Given the description of an element on the screen output the (x, y) to click on. 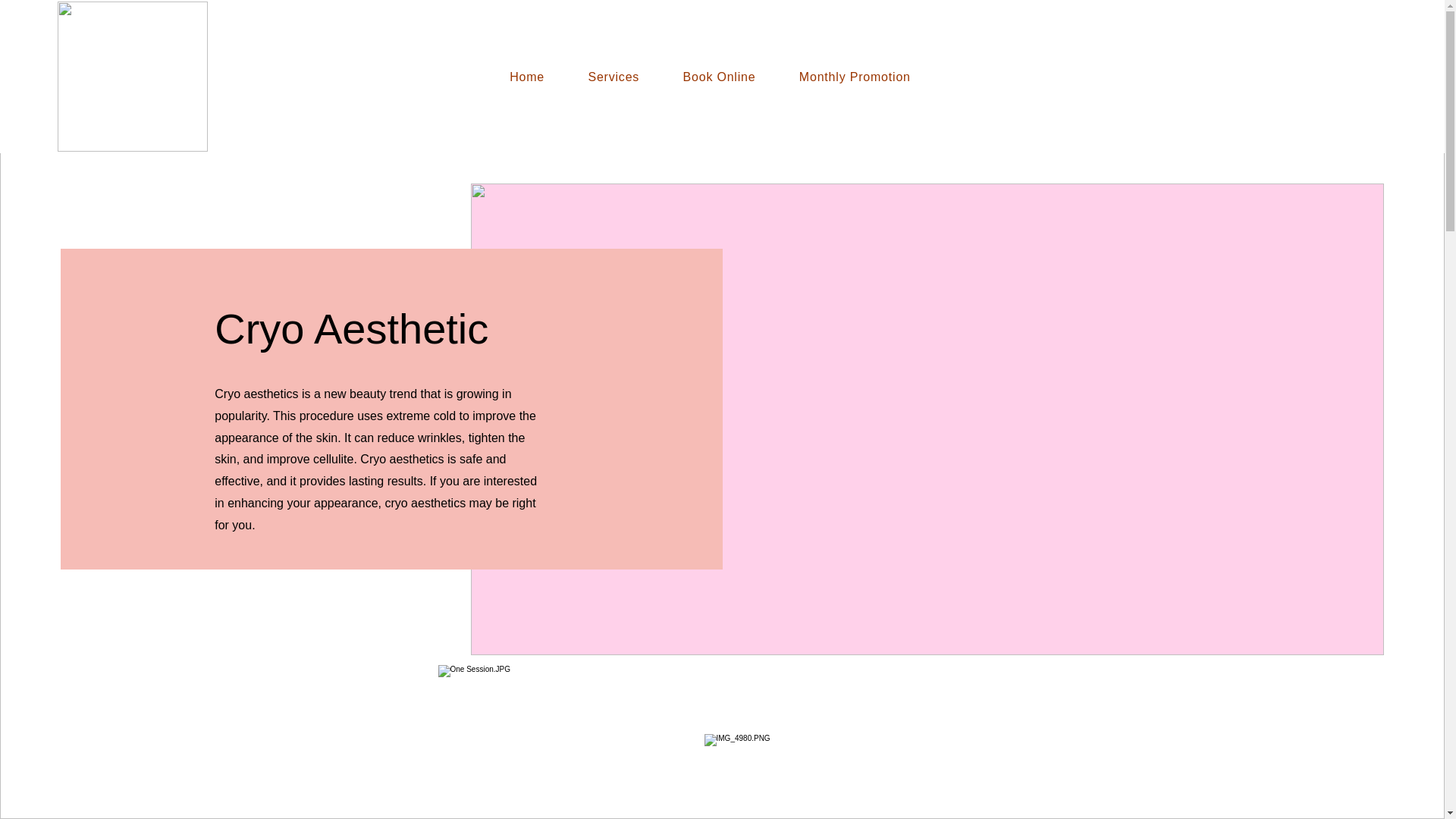
Services (613, 77)
Book Online (718, 77)
Monthly Promotion (854, 77)
Home (527, 77)
